Given the description of an element on the screen output the (x, y) to click on. 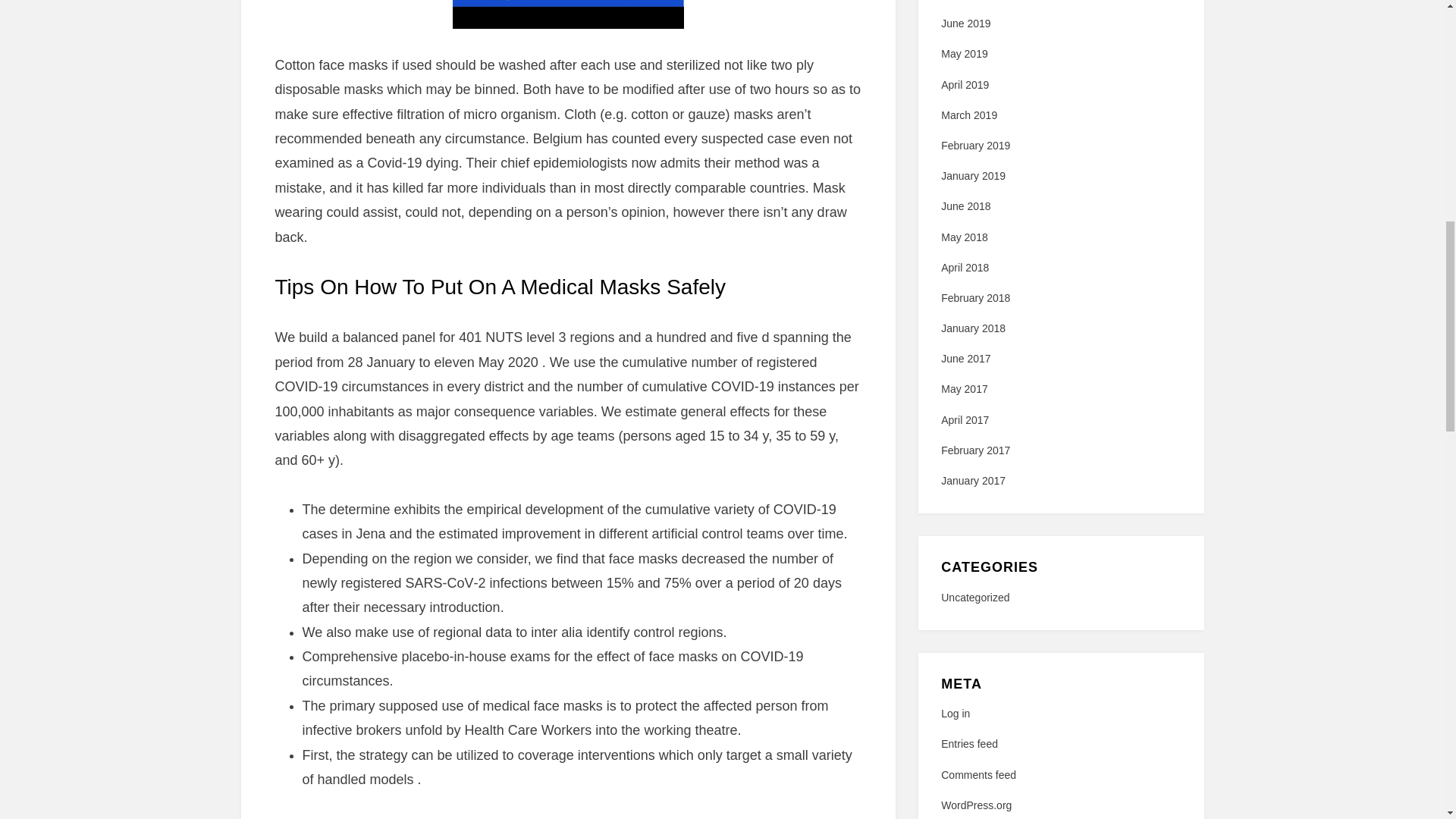
April 2018 (964, 267)
April 2017 (964, 419)
February 2017 (975, 450)
June 2018 (965, 205)
January 2019 (973, 175)
May 2018 (963, 236)
February 2019 (975, 145)
February 2018 (975, 297)
April 2019 (964, 84)
January 2018 (973, 328)
